Given the description of an element on the screen output the (x, y) to click on. 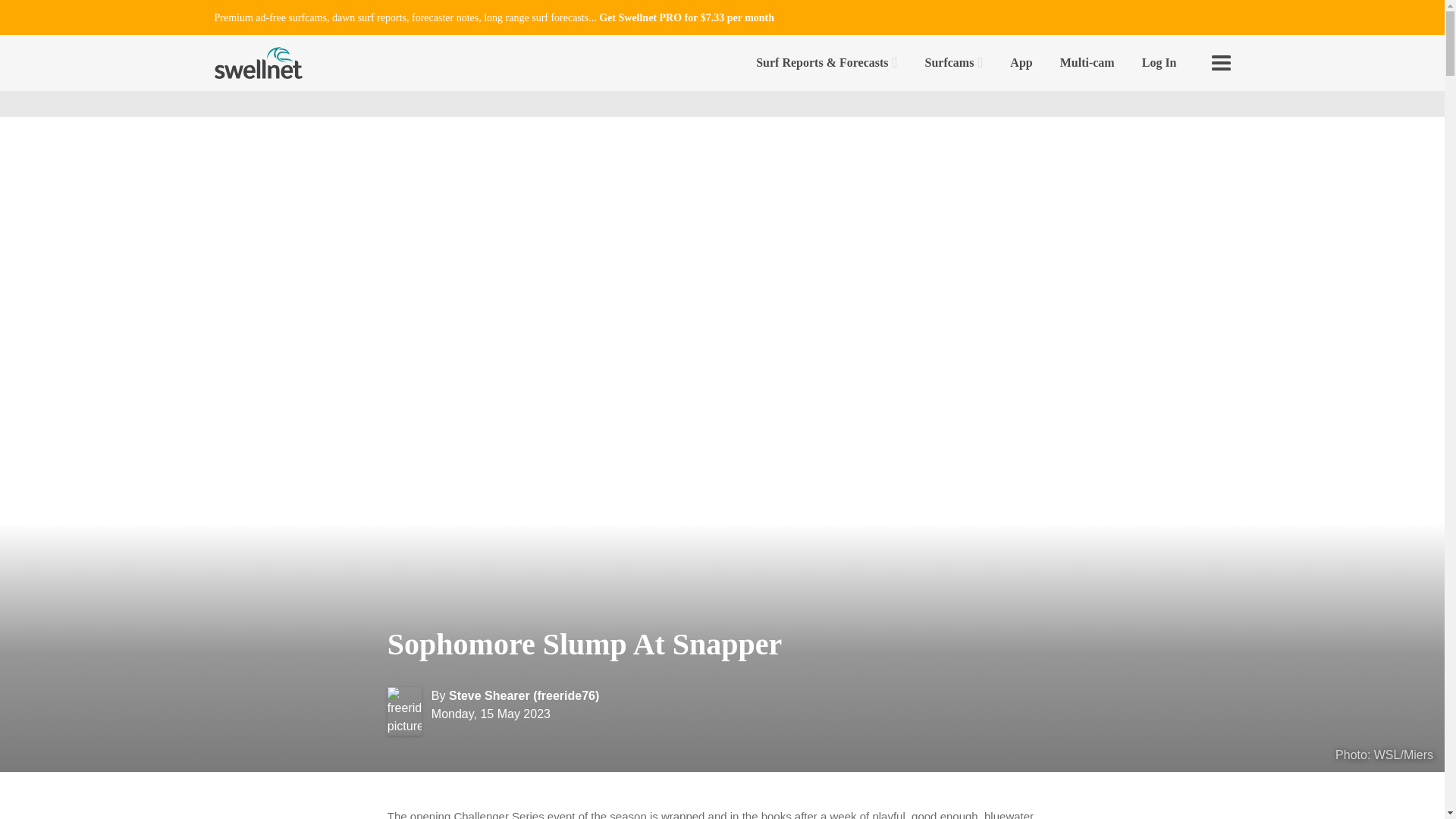
Multi-cam (1087, 62)
Swellnet (257, 62)
Surfcams (954, 62)
Log In (1159, 62)
